Given the description of an element on the screen output the (x, y) to click on. 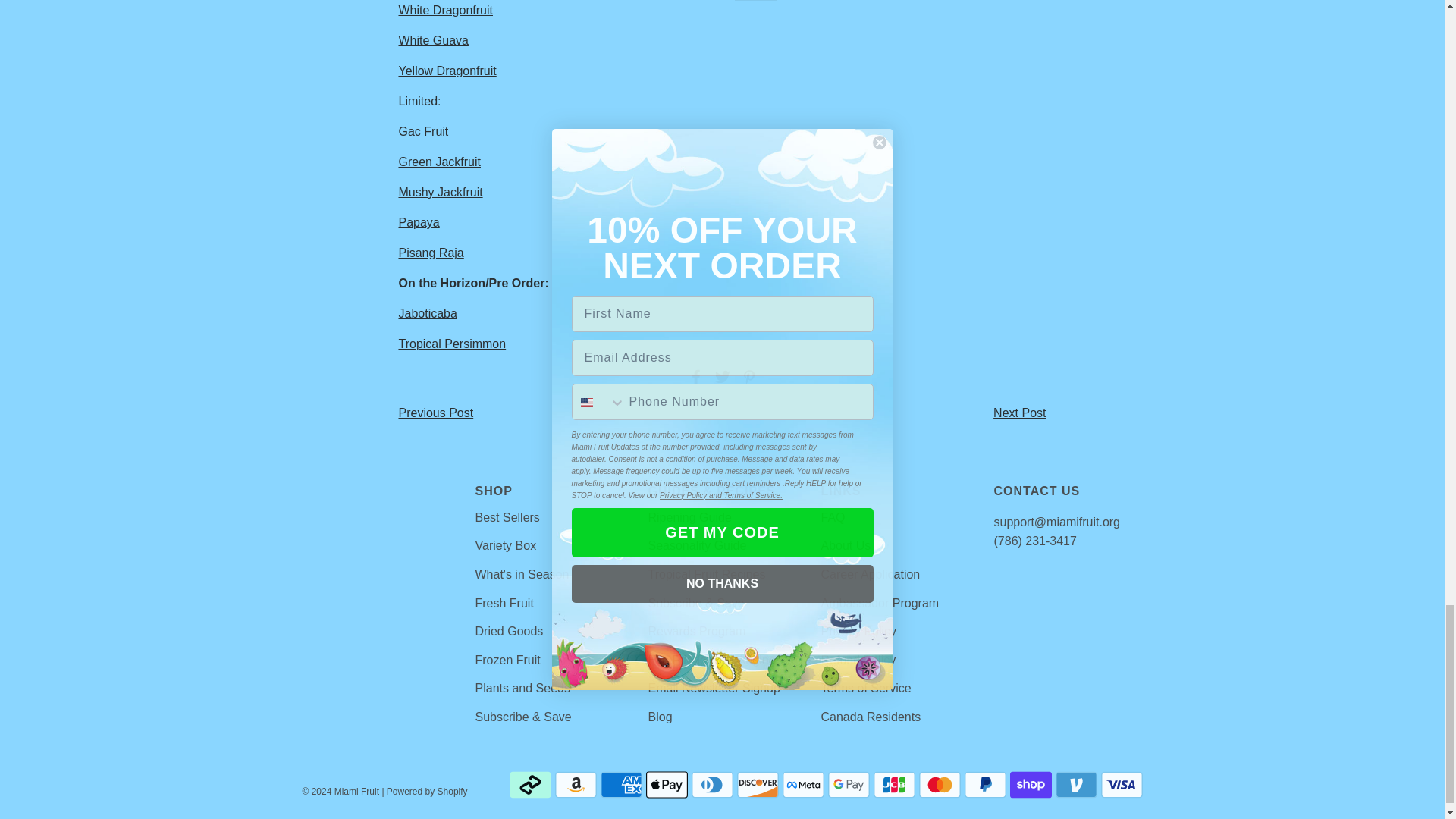
Google Pay (848, 784)
Apple Pay (666, 784)
Diners Club (712, 784)
Amazon (575, 784)
Meta Pay (803, 784)
Discover (757, 784)
Afterpay (530, 784)
American Express (620, 784)
